Given the description of an element on the screen output the (x, y) to click on. 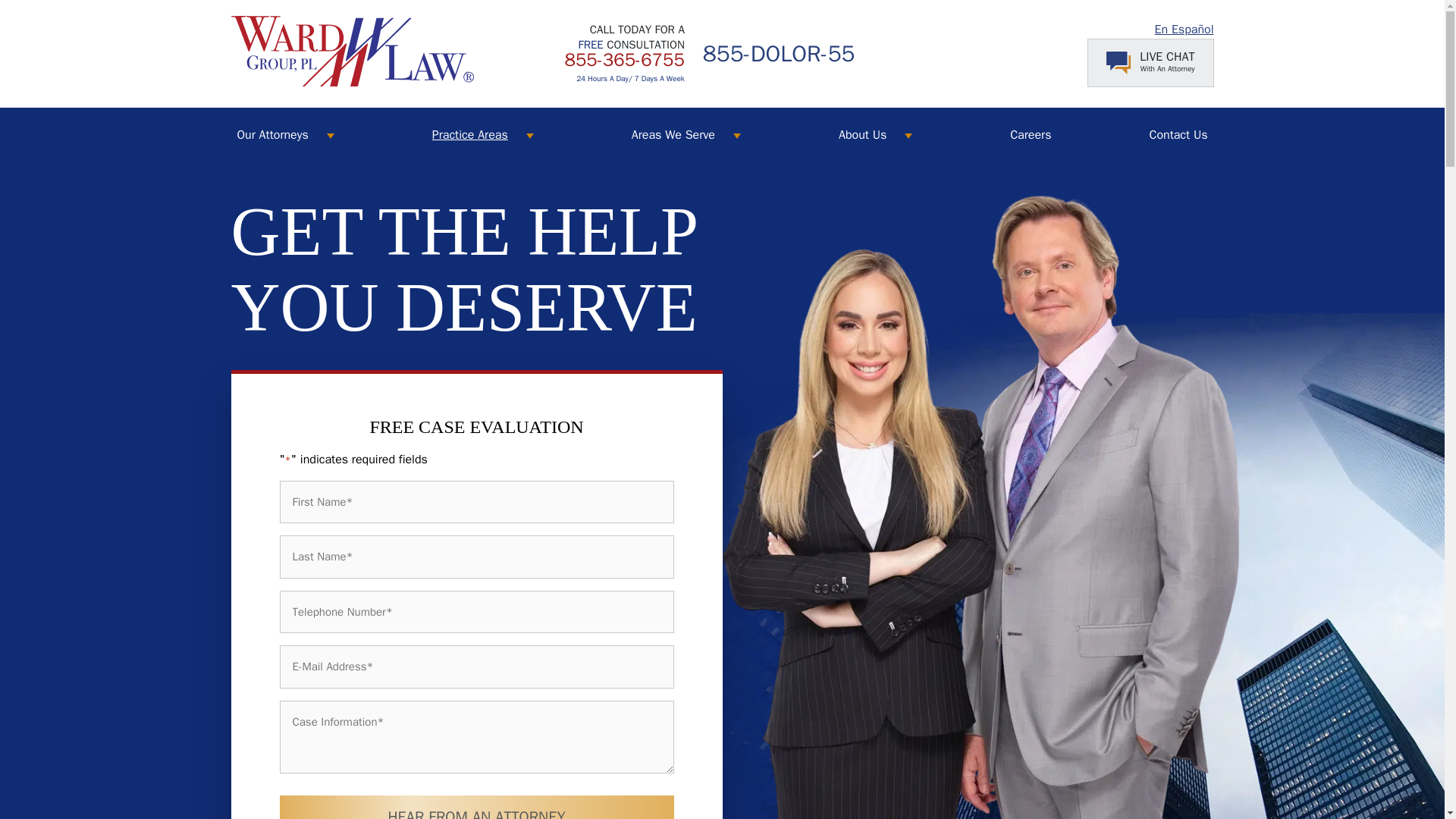
Practice Areas (469, 134)
Our Attorneys (272, 134)
855-DOLOR-55 (779, 53)
About Us (862, 134)
Areas We Serve (673, 134)
Our Attorneys (272, 134)
